Given the description of an element on the screen output the (x, y) to click on. 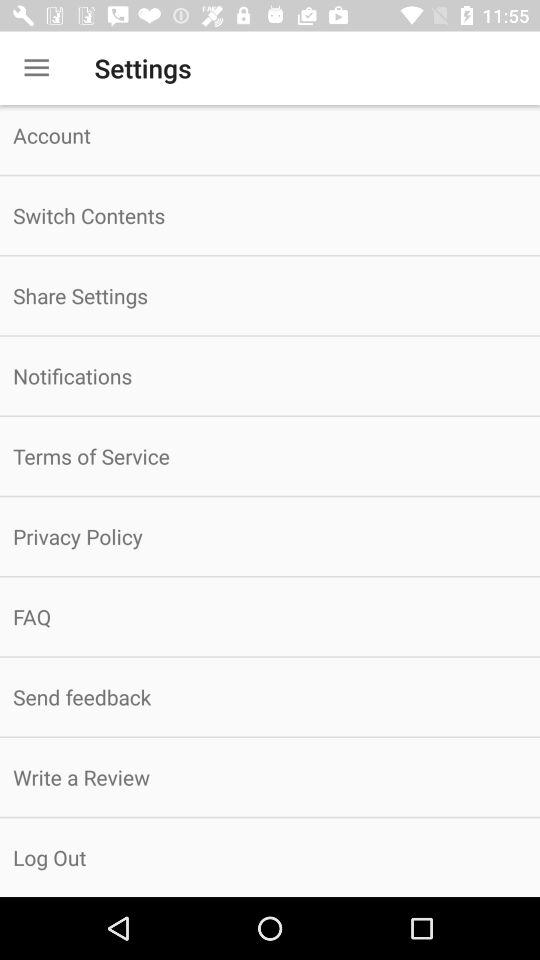
jump until switch contents item (270, 215)
